Given the description of an element on the screen output the (x, y) to click on. 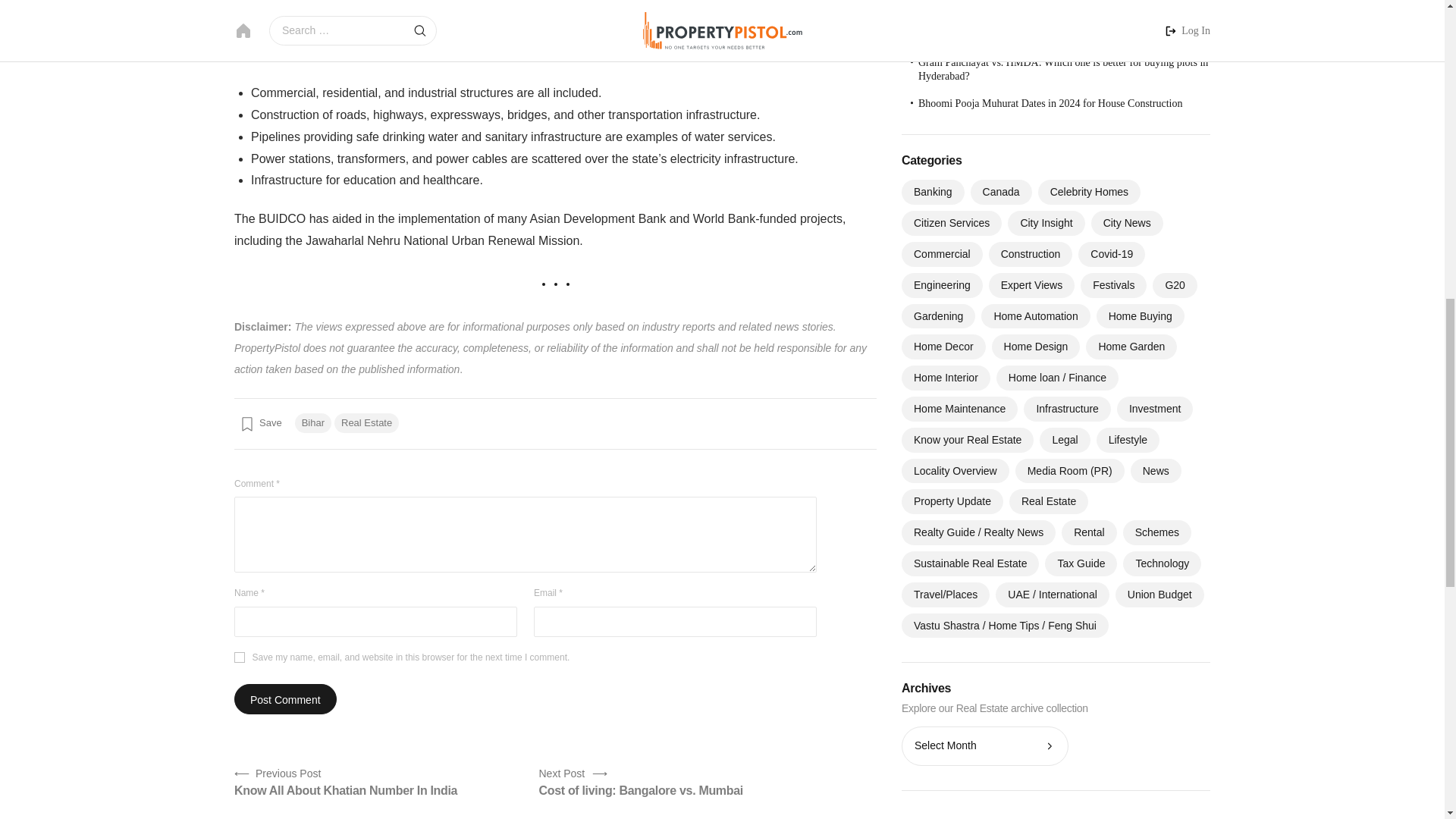
Post Comment (285, 698)
Bookmark This (259, 423)
Bihar (313, 422)
Real Estate (640, 780)
yes (366, 422)
Post Comment (239, 656)
